Given the description of an element on the screen output the (x, y) to click on. 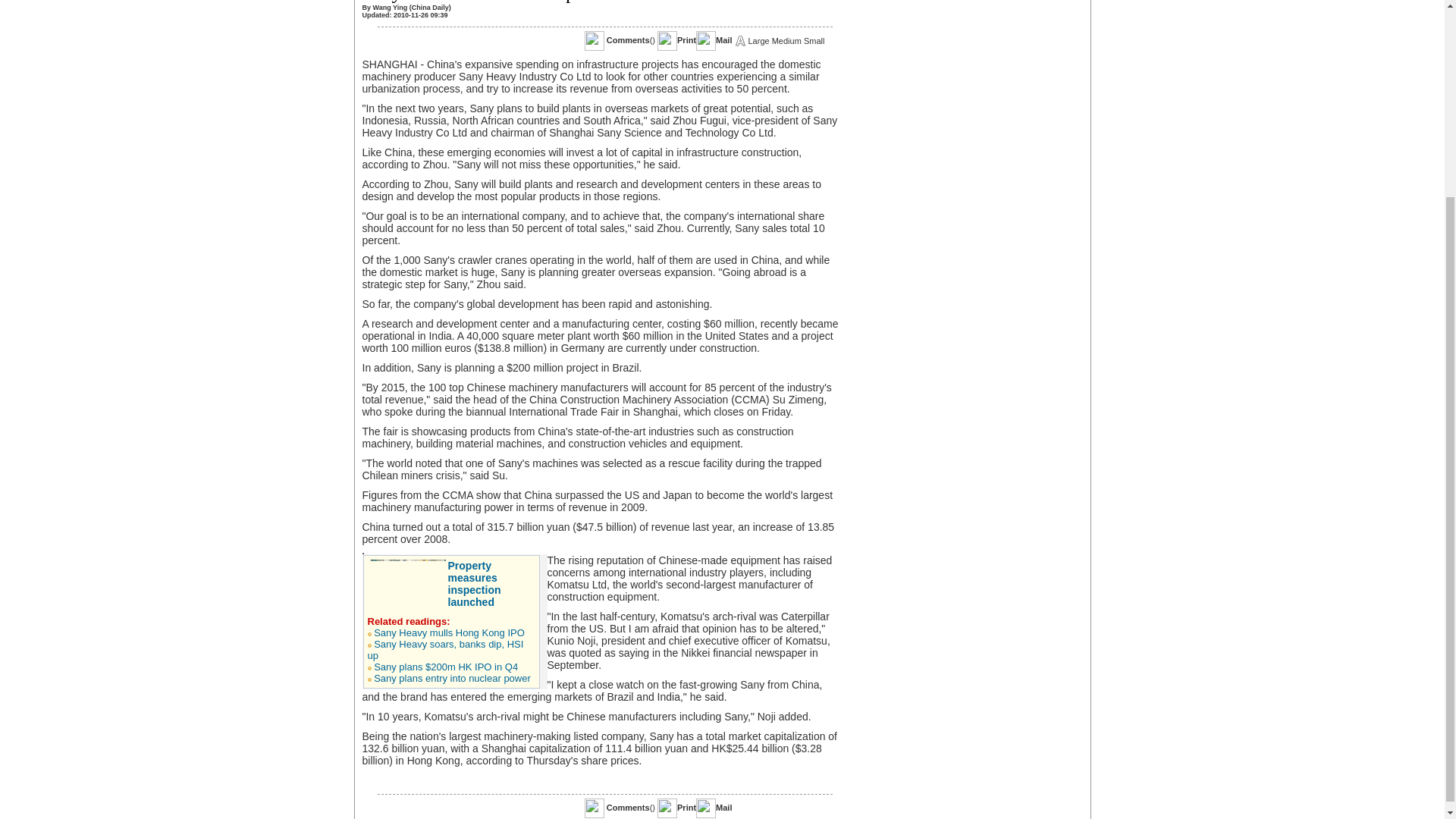
Sany plans entry into nuclear power (452, 677)
Small (814, 40)
Medium (786, 40)
Mail (724, 40)
Property measures inspection launched (473, 583)
Print (686, 807)
Sany Heavy soars, banks dip, HSI up (444, 649)
Print (686, 40)
Large (758, 40)
Sany Heavy mulls Hong Kong IPO (449, 632)
Mail (724, 807)
